Given the description of an element on the screen output the (x, y) to click on. 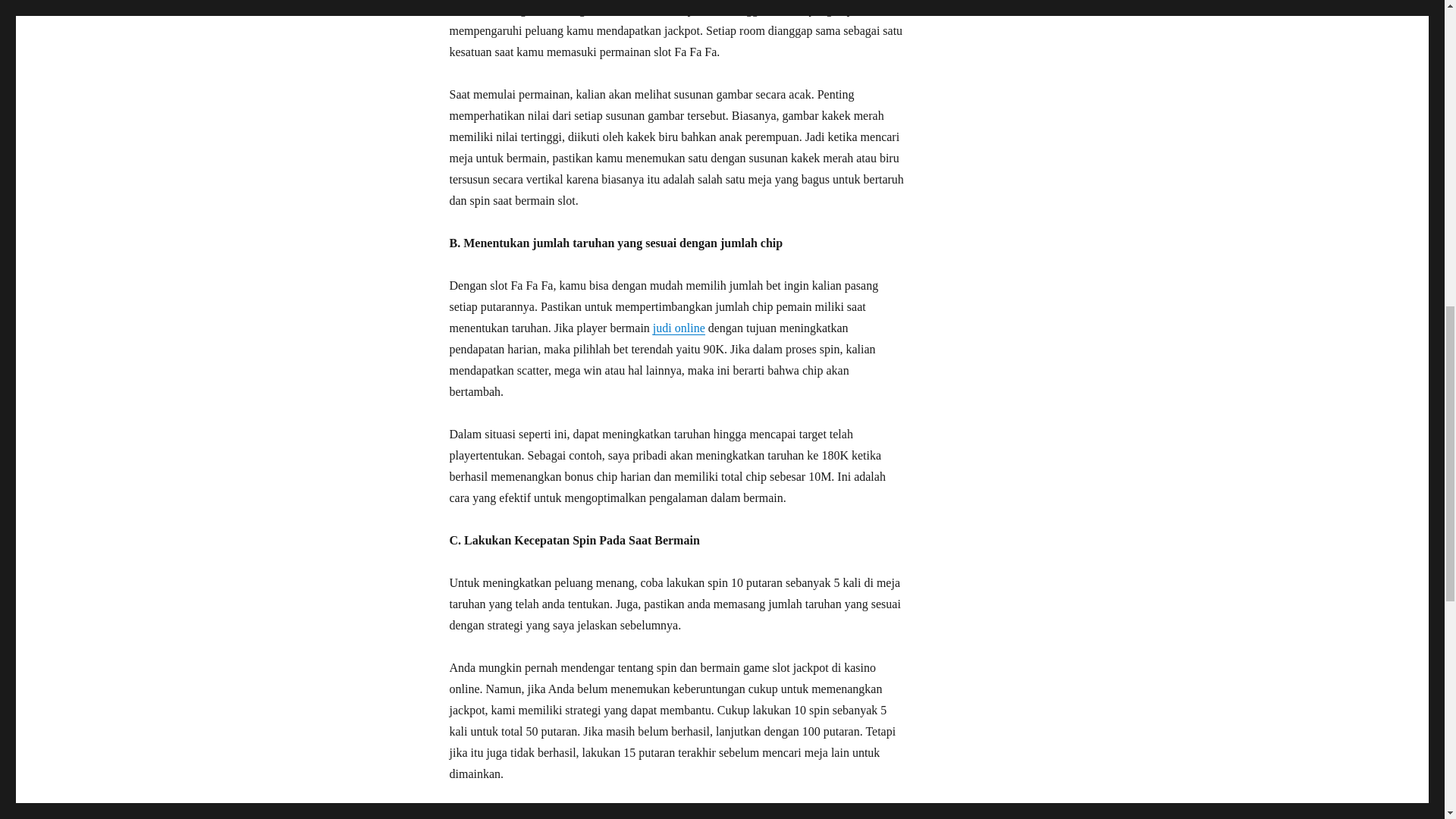
judi online (678, 327)
